Given the description of an element on the screen output the (x, y) to click on. 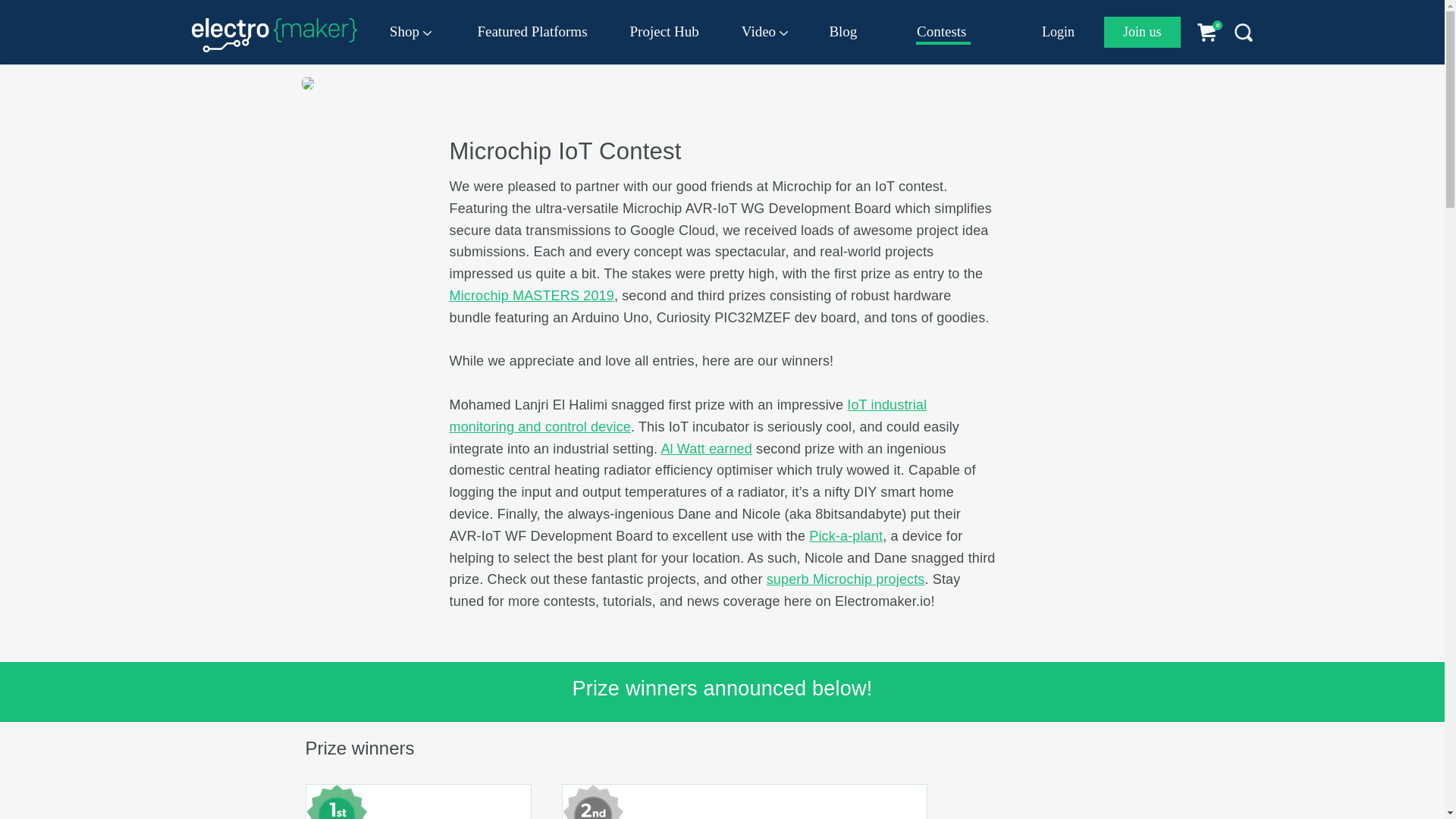
Microchip IoT Contest Winner (335, 801)
Join Us (1141, 31)
Cart (1212, 31)
Microchip IoT Contest Winner (592, 801)
